Given the description of an element on the screen output the (x, y) to click on. 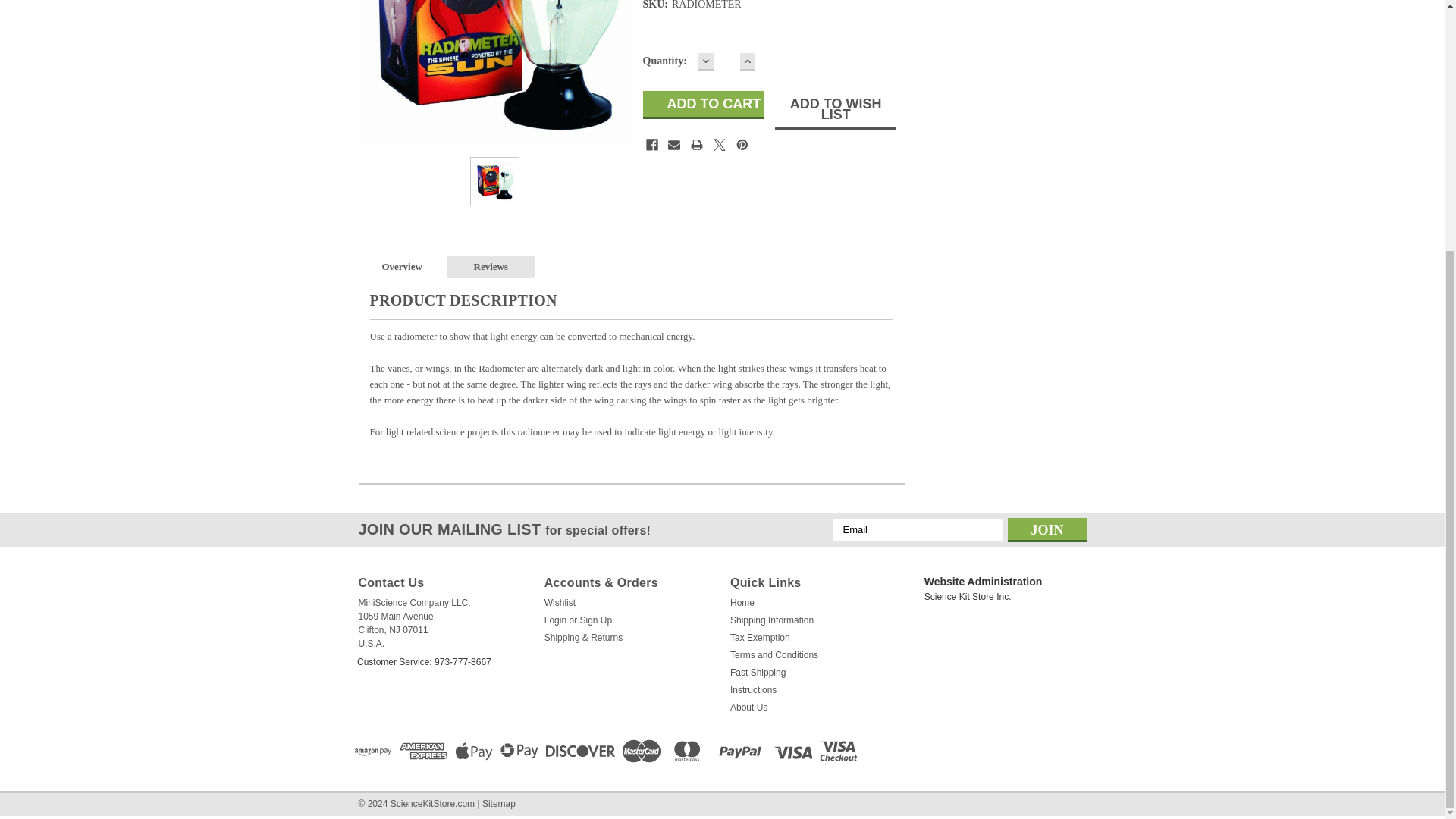
Facebook (652, 144)
Add to Cart (703, 104)
Radiometer (494, 181)
Print (696, 144)
Email (673, 144)
1 (726, 62)
Pinterest (742, 144)
Join (1046, 529)
Twitter (719, 144)
Radiometer (494, 72)
